Given the description of an element on the screen output the (x, y) to click on. 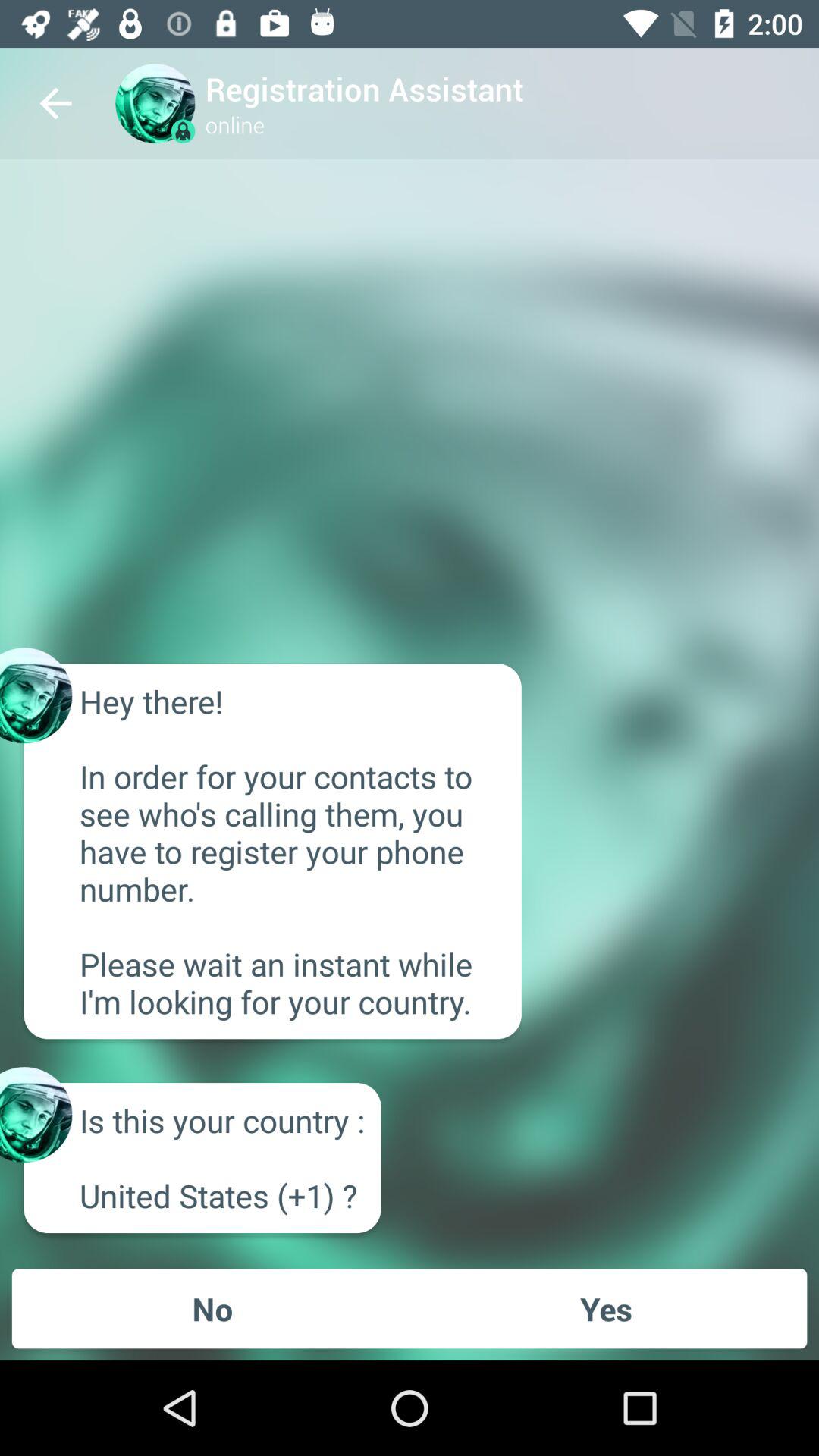
scroll to yes item (606, 1308)
